Given the description of an element on the screen output the (x, y) to click on. 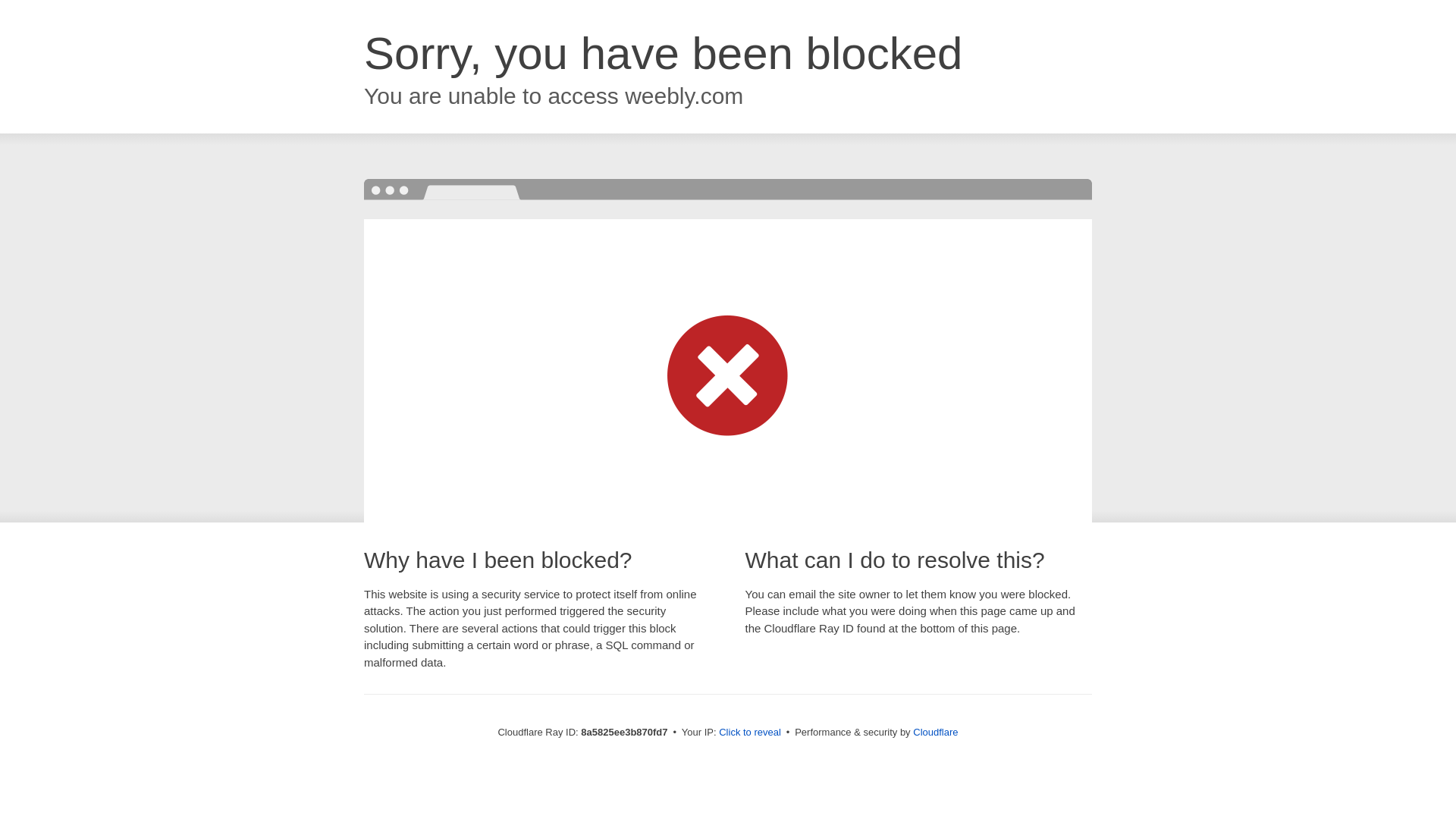
Cloudflare (935, 731)
Click to reveal (749, 732)
